Given the description of an element on the screen output the (x, y) to click on. 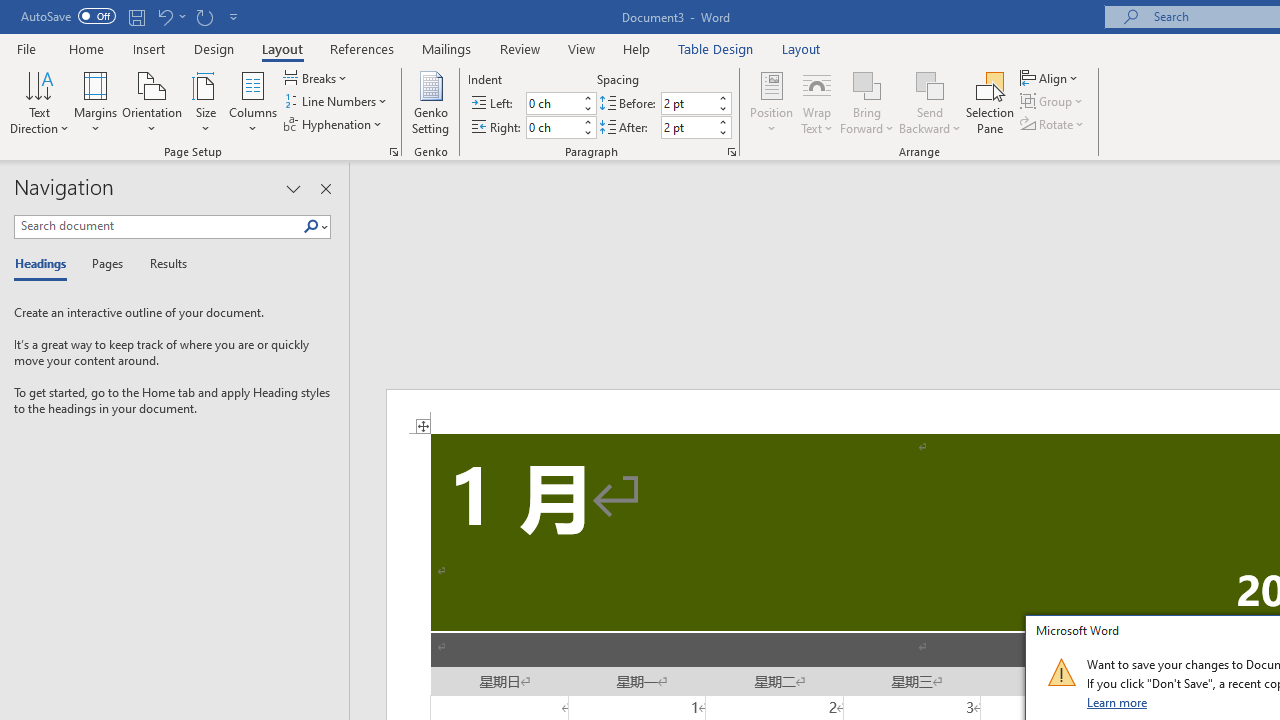
Rotate (1053, 124)
Breaks (317, 78)
Indent Right (552, 127)
Bring Forward (867, 84)
Align (1051, 78)
Page Setup... (393, 151)
Hyphenation (334, 124)
Learn more (1118, 702)
Text Direction (39, 102)
Bring Forward (867, 102)
